Given the description of an element on the screen output the (x, y) to click on. 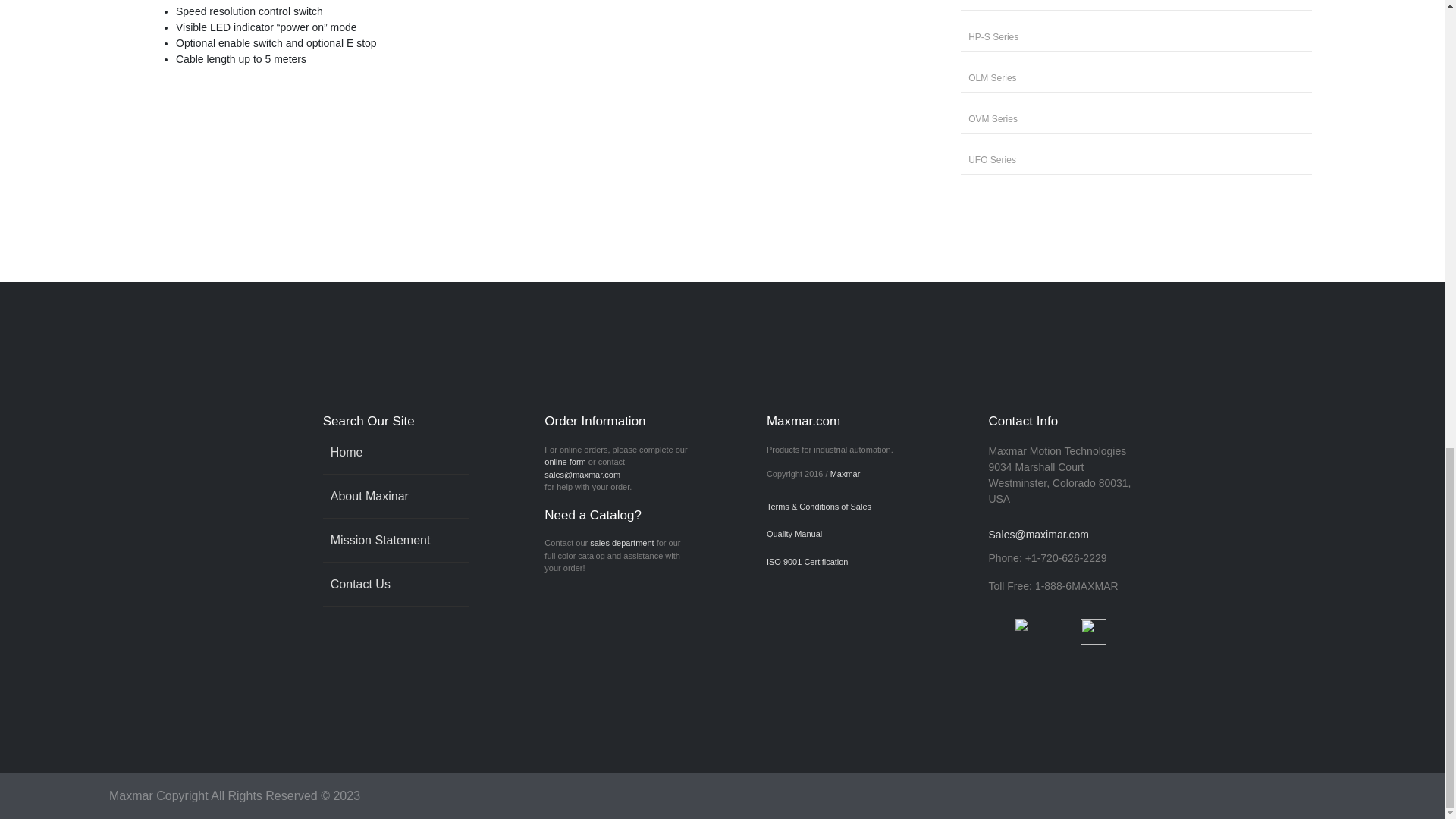
ISO 9001 Certification (830, 561)
online form (564, 461)
About Maxinar (395, 496)
Home (395, 452)
Quality Manual (830, 533)
Mission Statement (395, 540)
